Given the description of an element on the screen output the (x, y) to click on. 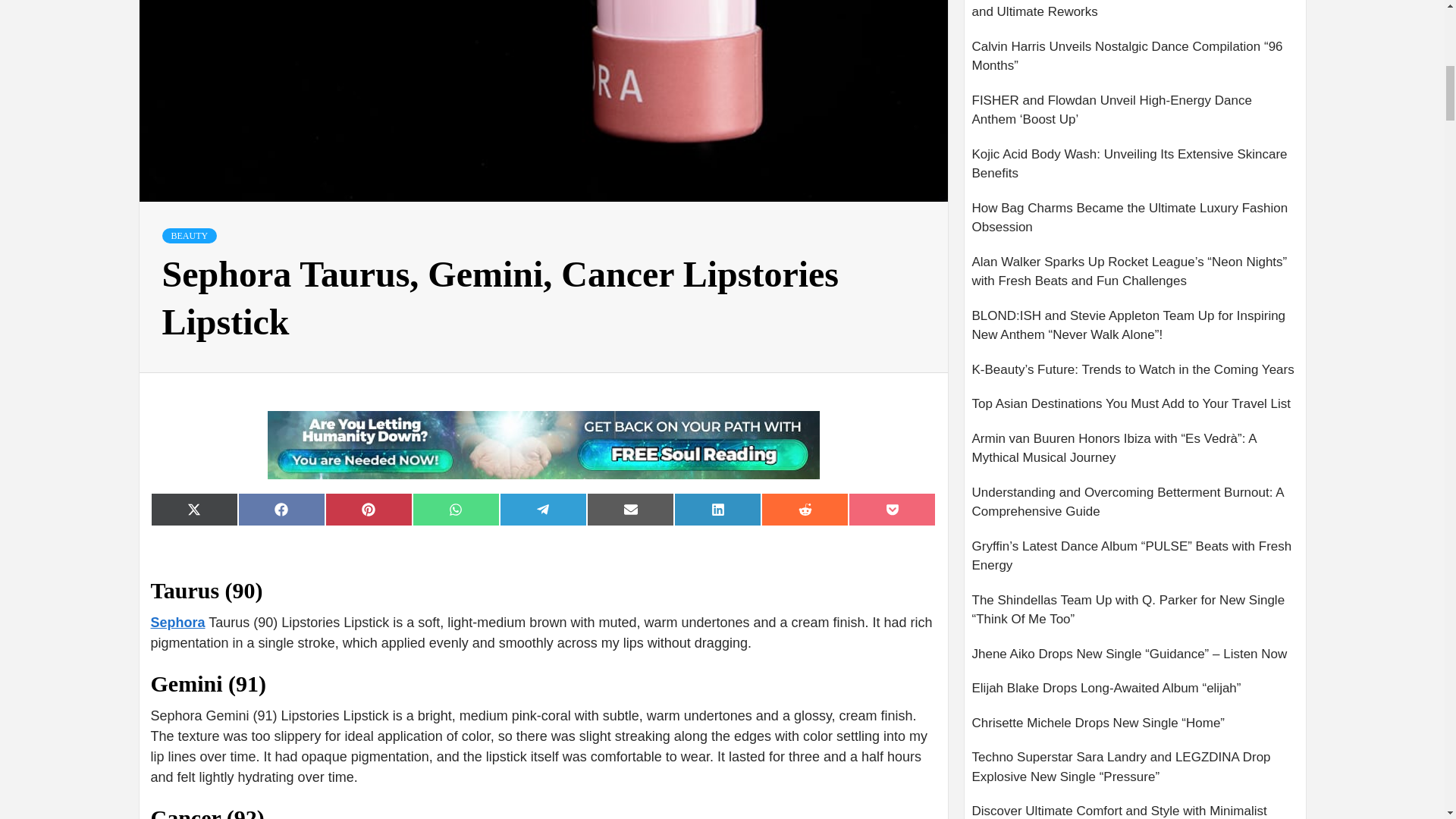
Share on WhatsApp (455, 509)
BEAUTY (188, 235)
Share on LinkedIn (717, 509)
Share on Pinterest (368, 509)
Share on Facebook (281, 509)
Share on Pocket (892, 509)
Share on Reddit (804, 509)
Sephora (177, 622)
Share on Telegram (542, 509)
Share on Email (630, 509)
